Given the description of an element on the screen output the (x, y) to click on. 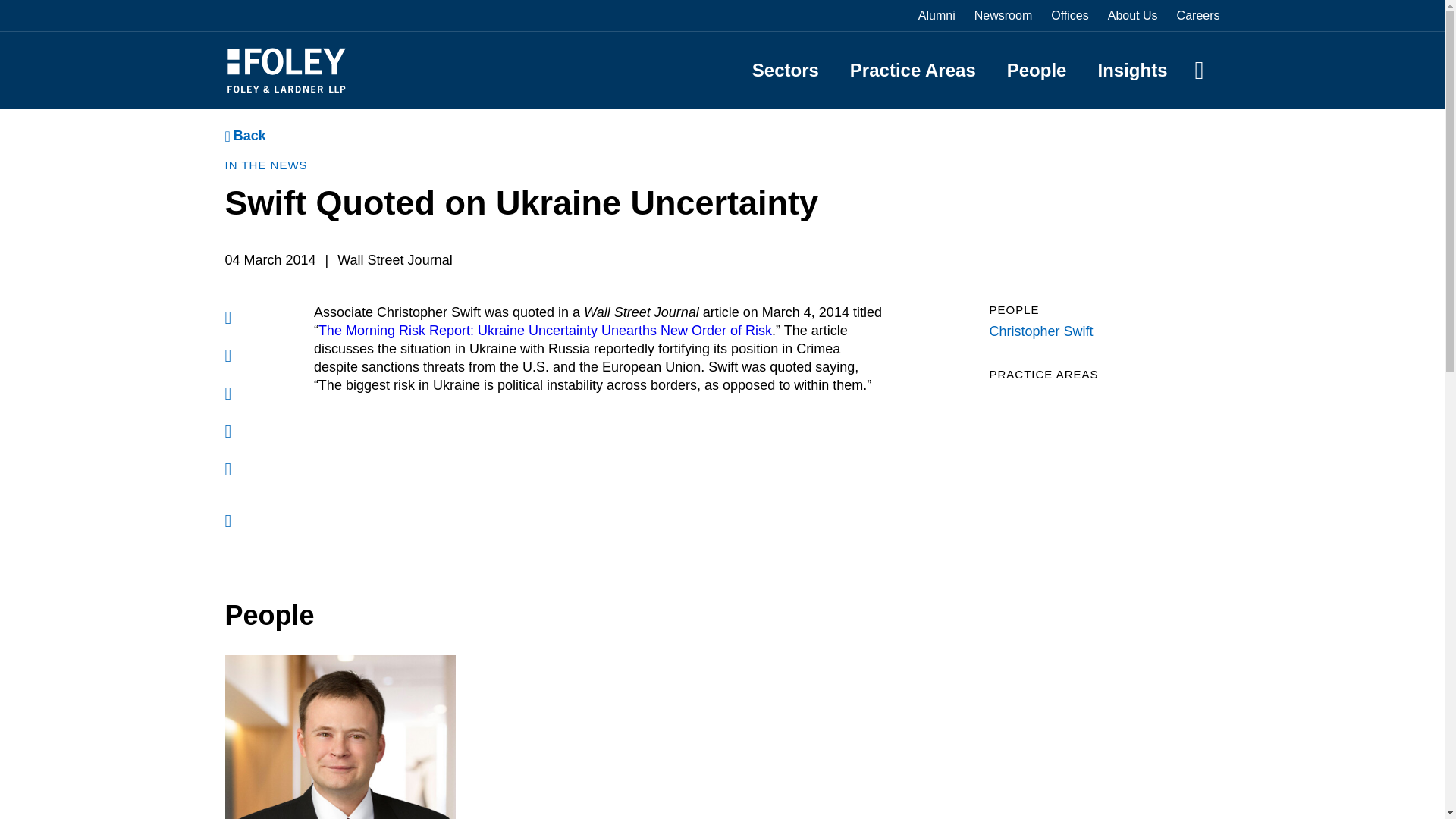
Offices (1070, 15)
Christopher Swift (1040, 331)
About Us (1132, 15)
IN THE NEWS (265, 164)
Practice Areas (912, 70)
Insights (1132, 70)
Alumni (936, 15)
Sectors (785, 70)
